Given the description of an element on the screen output the (x, y) to click on. 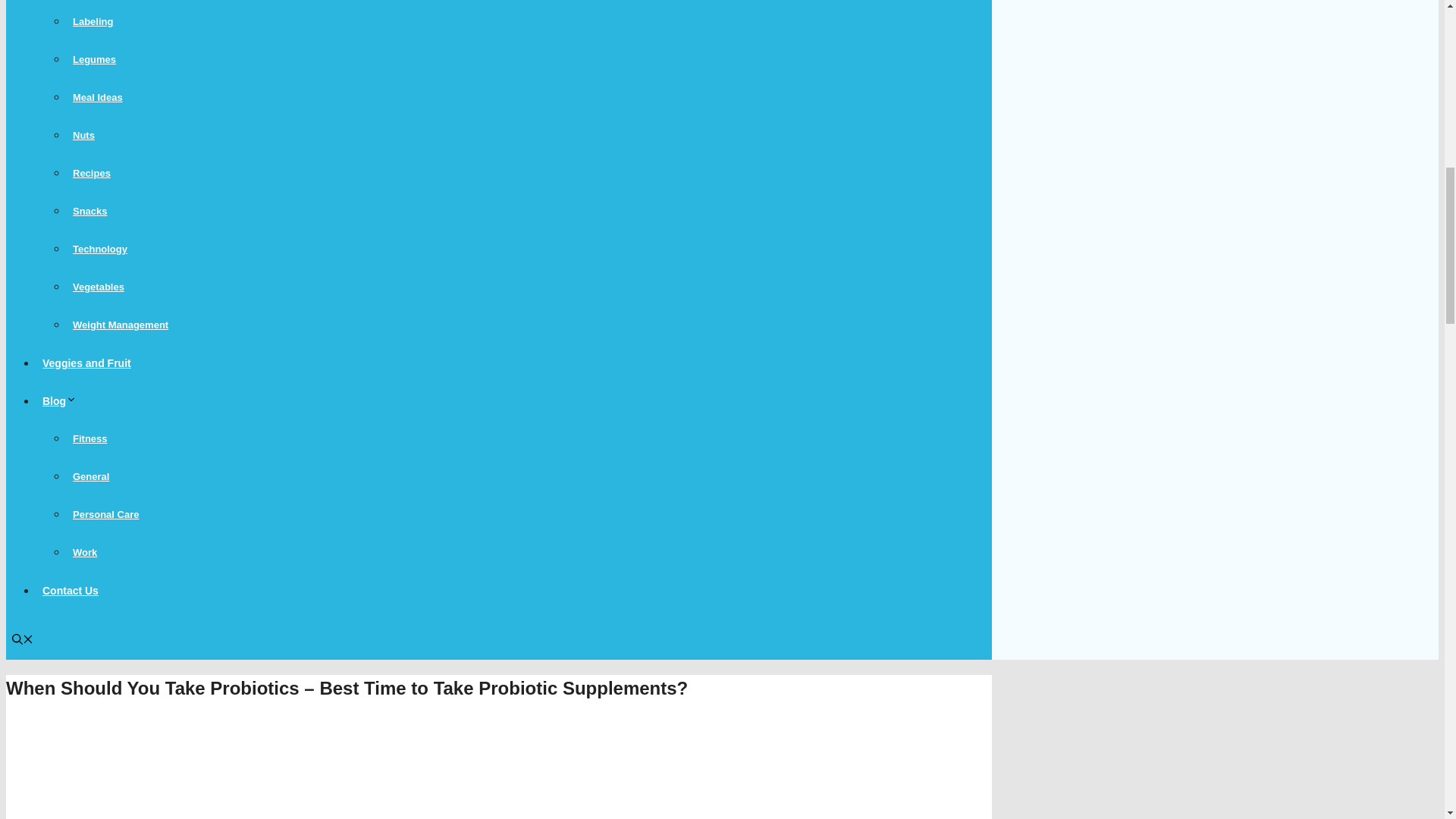
Contact Us (70, 590)
Veggies and Fruit (86, 363)
Nuts (83, 135)
General (90, 476)
Legumes (94, 58)
Technology (99, 248)
Fitness (89, 438)
Labeling (92, 21)
Personal Care (105, 514)
Work (84, 551)
